Given the description of an element on the screen output the (x, y) to click on. 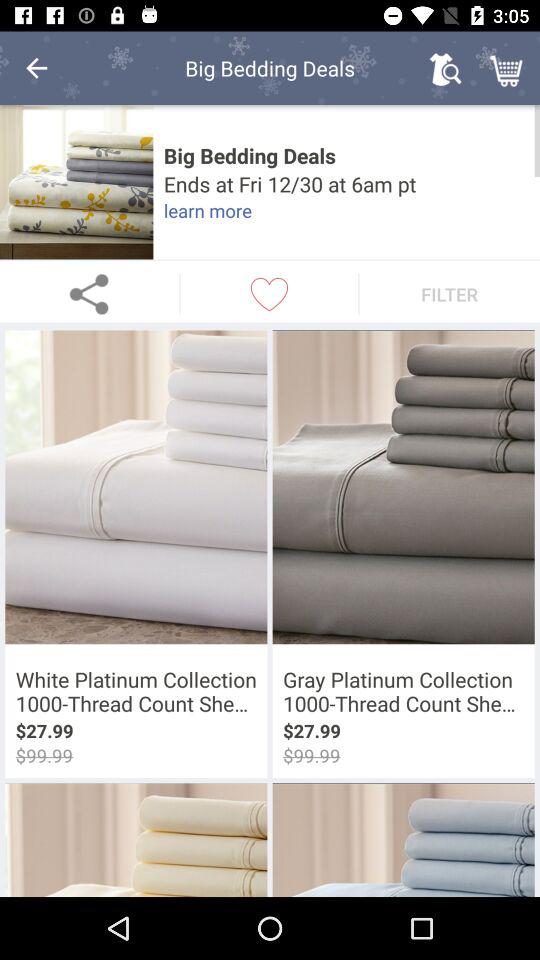
show pictures (76, 182)
